Given the description of an element on the screen output the (x, y) to click on. 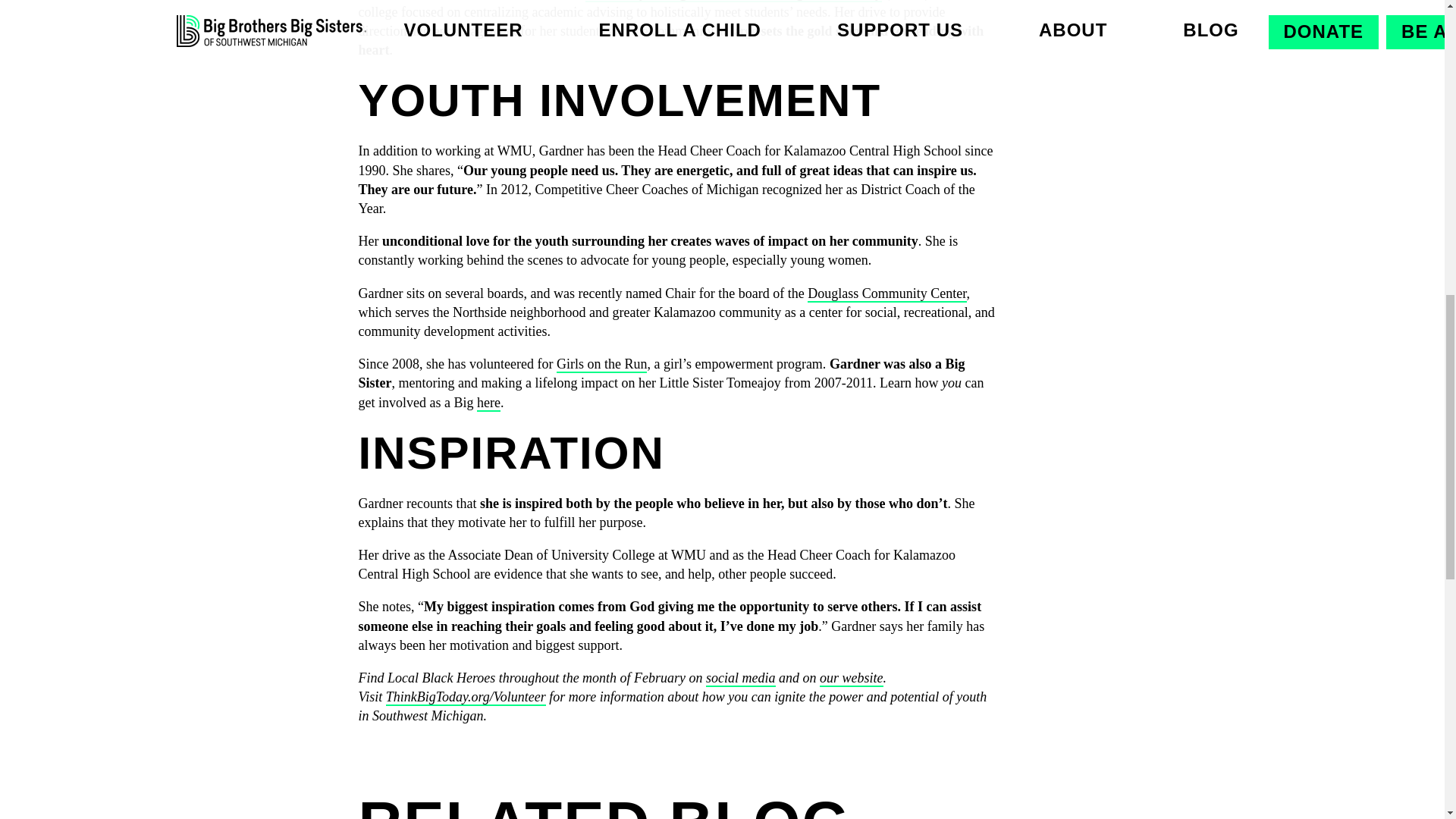
social media (741, 677)
Girls on the Run (601, 363)
here (488, 402)
our website (851, 677)
Douglass Community Center (887, 293)
